Given the description of an element on the screen output the (x, y) to click on. 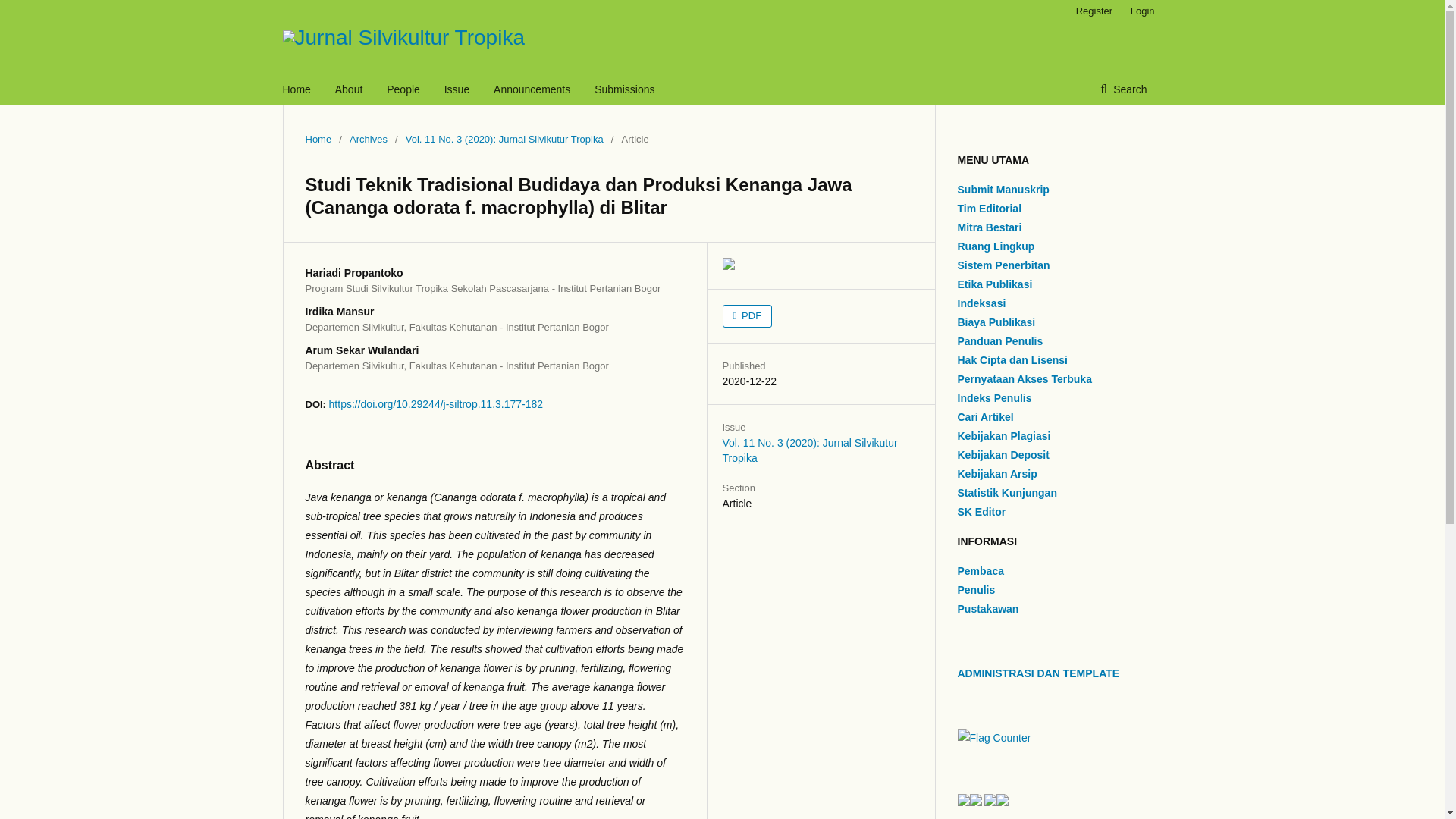
Tim Editorial (989, 208)
People (403, 89)
Ruang Lingkup (994, 246)
Login (1138, 11)
Search (1122, 89)
About (348, 89)
Archives (368, 139)
Home (317, 139)
Panduan Penulis (999, 340)
PDF (746, 315)
